Given the description of an element on the screen output the (x, y) to click on. 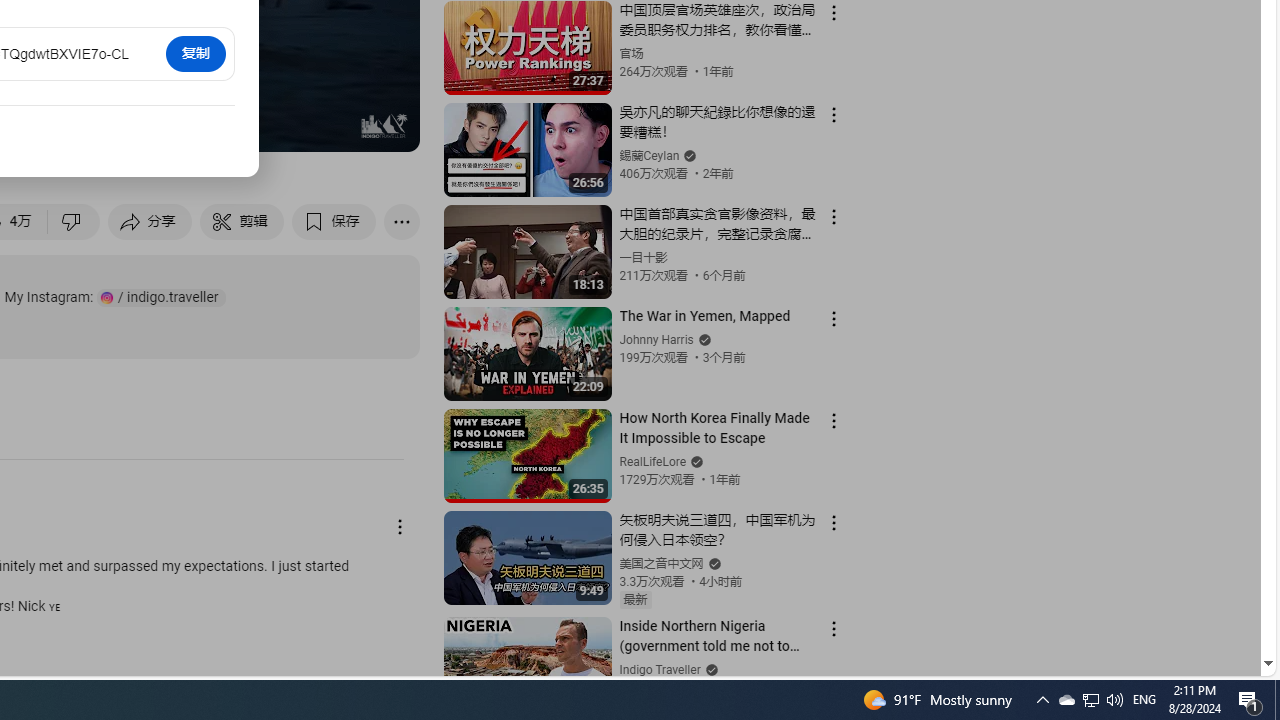
Class: ytp-subtitles-button-icon (190, 127)
